Given the description of an element on the screen output the (x, y) to click on. 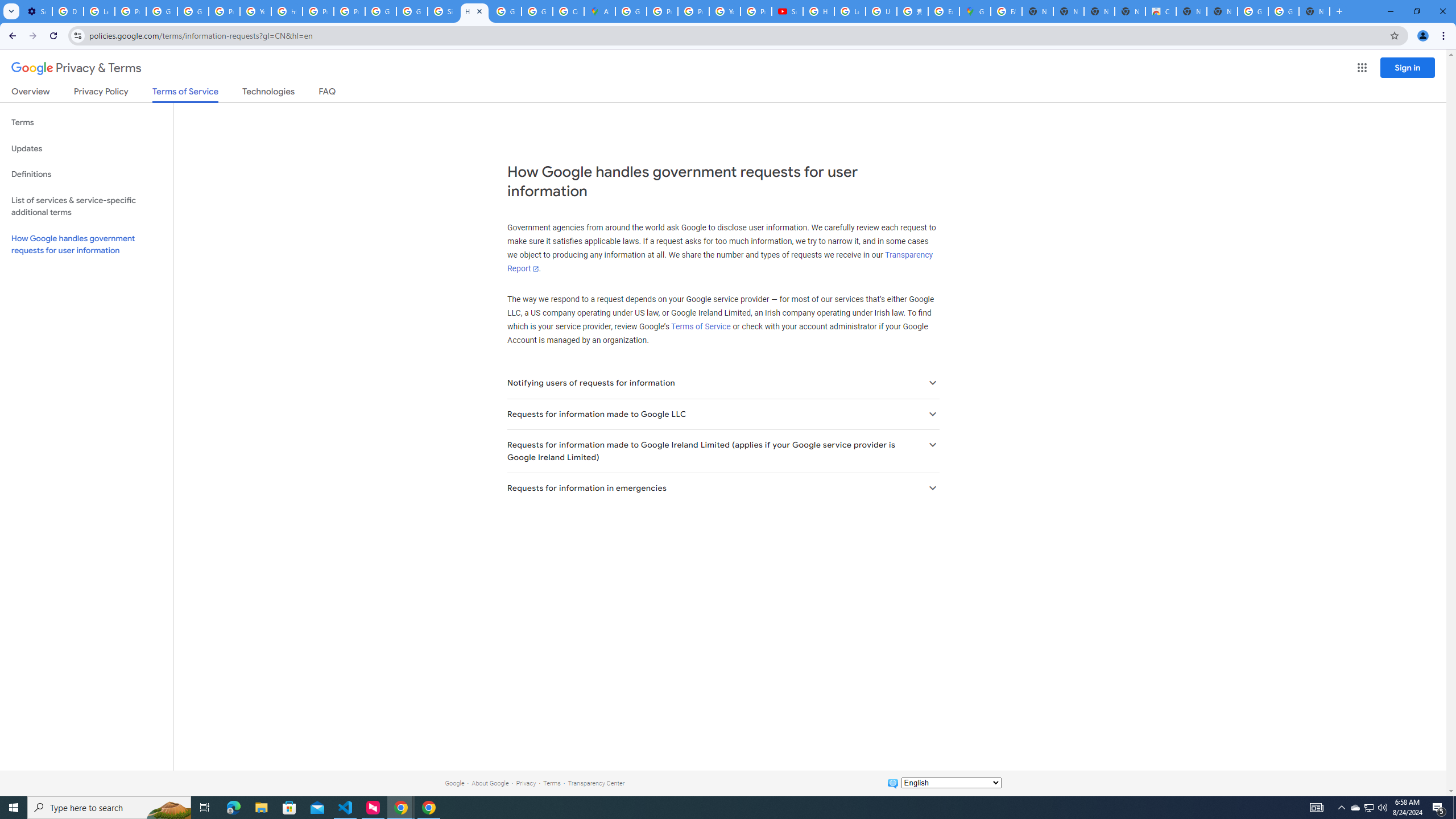
Delete photos & videos - Computer - Google Photos Help (67, 11)
Privacy Help Center - Policies Help (318, 11)
Google Maps (974, 11)
Settings - On startup (36, 11)
